Given the description of an element on the screen output the (x, y) to click on. 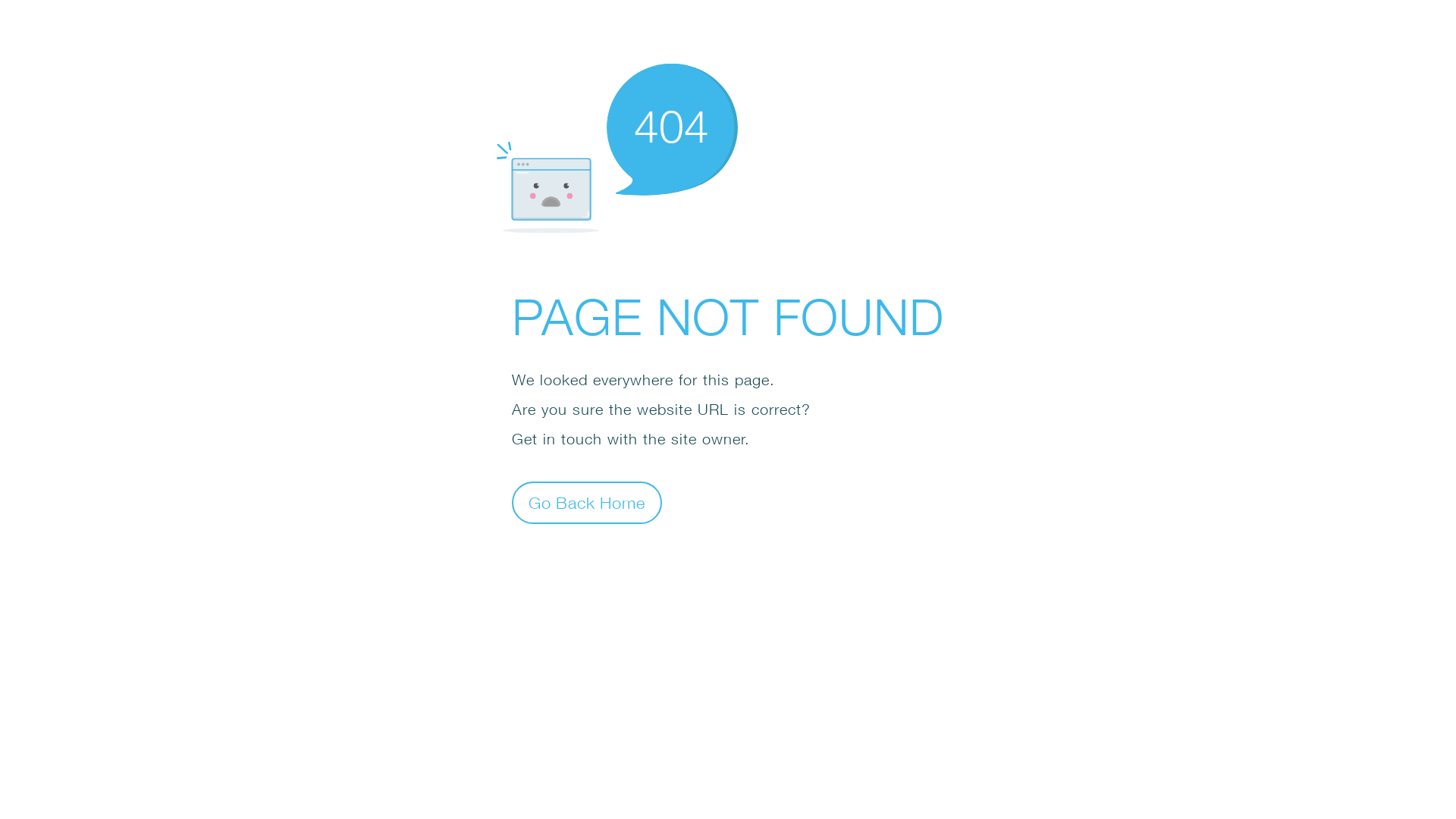
Go Back Home Element type: text (586, 502)
